Given the description of an element on the screen output the (x, y) to click on. 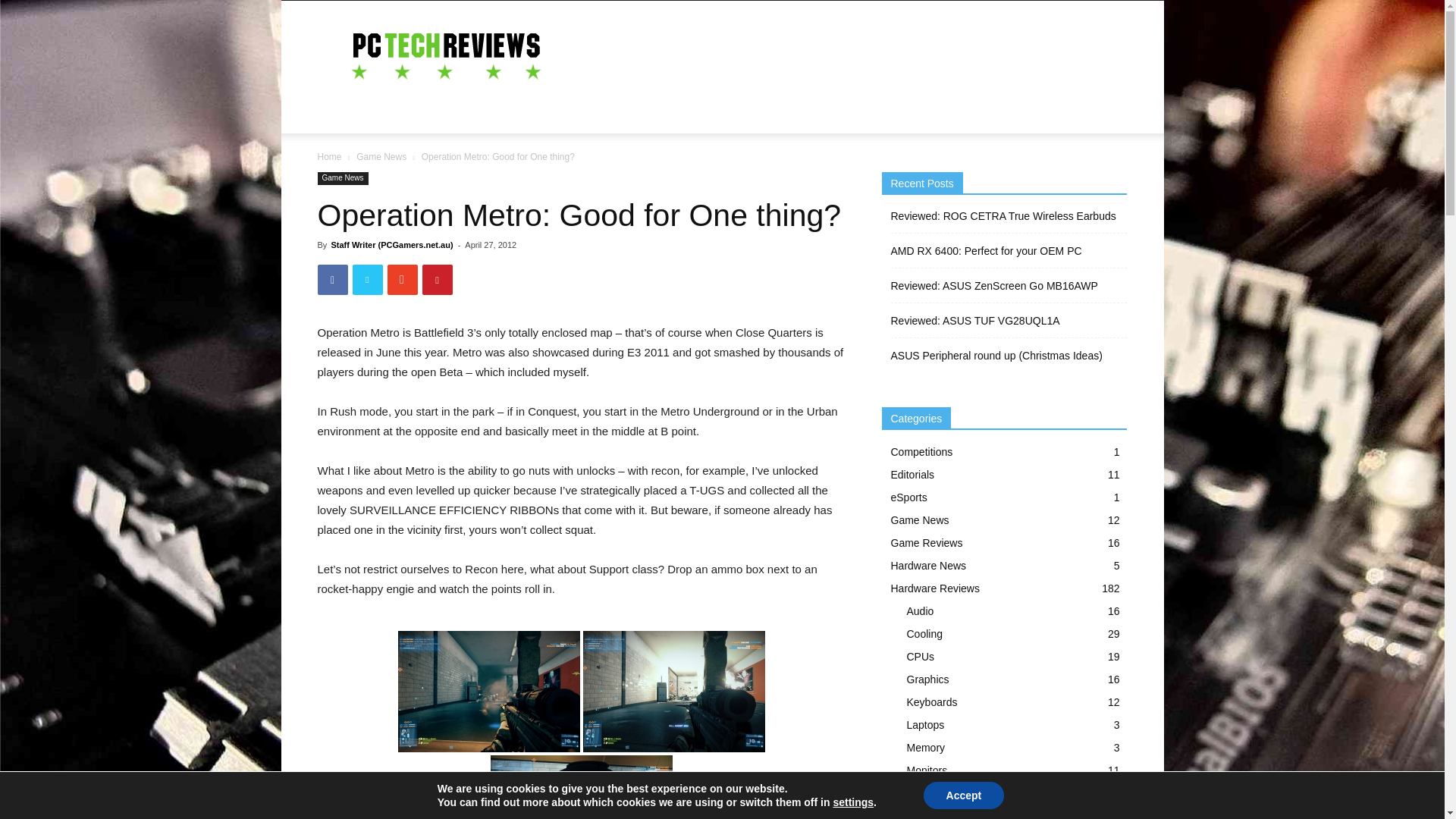
View all posts in Game News (381, 156)
Advertisement (850, 56)
SYSTEM BUILDS (572, 115)
battlefield3 operationmetro (673, 691)
HOME (343, 115)
HARDWARE REVIEWS (443, 115)
GAME REVIEWS (678, 115)
battlefield3 operationmetro (488, 691)
battlefield3 operationmetro (580, 787)
